Given the description of an element on the screen output the (x, y) to click on. 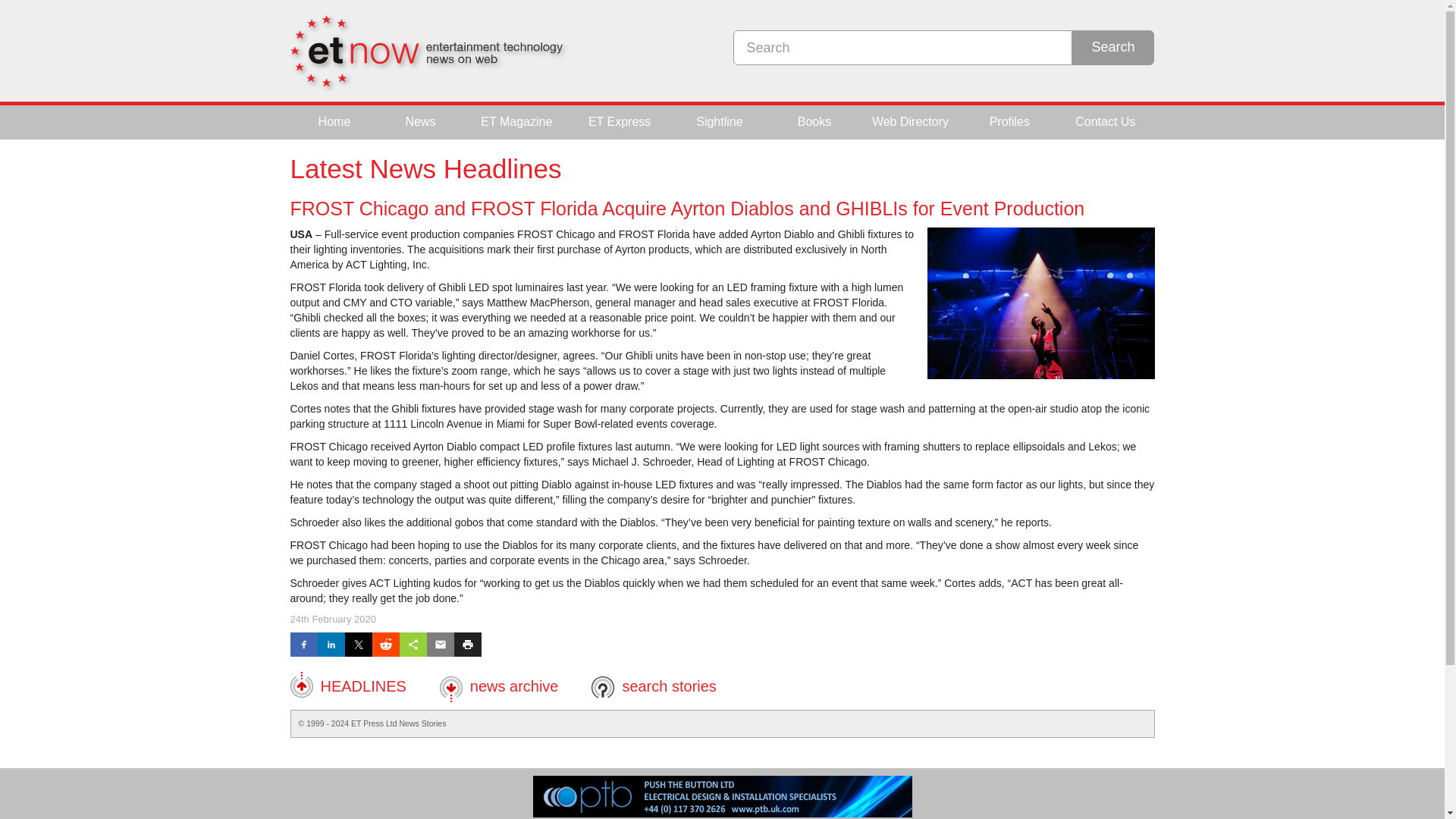
Sightline (719, 122)
Contact Us (1105, 122)
Home (334, 122)
Books (814, 122)
ET Express (619, 122)
News (420, 122)
Search (1112, 47)
ET Magazine (516, 122)
Profiles (1010, 122)
Home (334, 122)
Web Directory (909, 122)
